Given the description of an element on the screen output the (x, y) to click on. 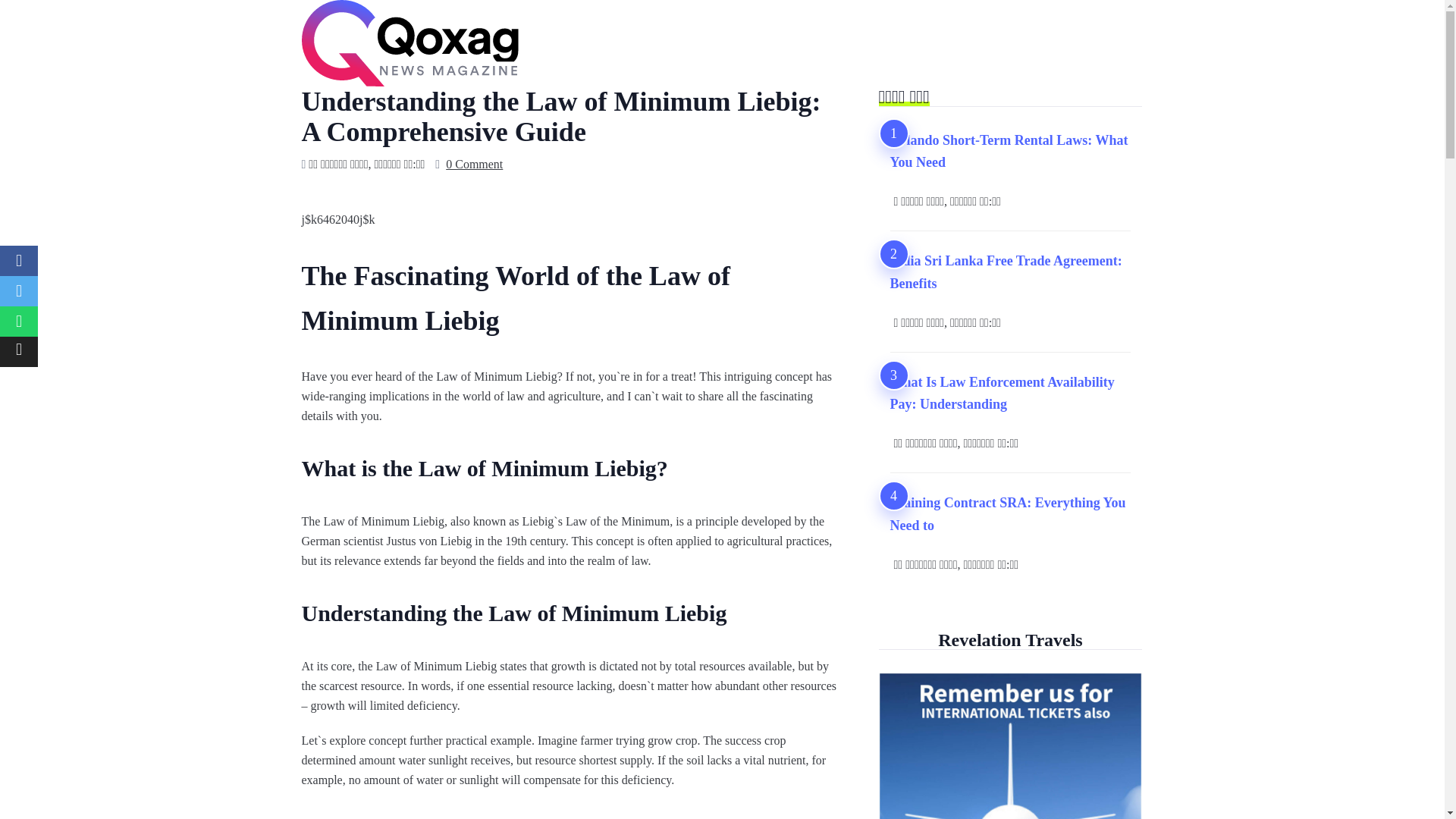
Orlando Short-Term Rental Laws: What You Need to Know (1010, 151)
What Is Law Enforcement Availability Pay: Understanding (1010, 393)
India Sri Lanka Free Trade Agreement: Benefits and Impact (1010, 272)
India Sri Lanka Free Trade Agreement: Benefits (1010, 272)
Training Contract SRA: Everything You Need to Know (1010, 514)
Training Contract SRA: Everything You Need to (1010, 514)
0 Comment (473, 164)
Orlando Short-Term Rental Laws: What You Need (1010, 151)
